Given the description of an element on the screen output the (x, y) to click on. 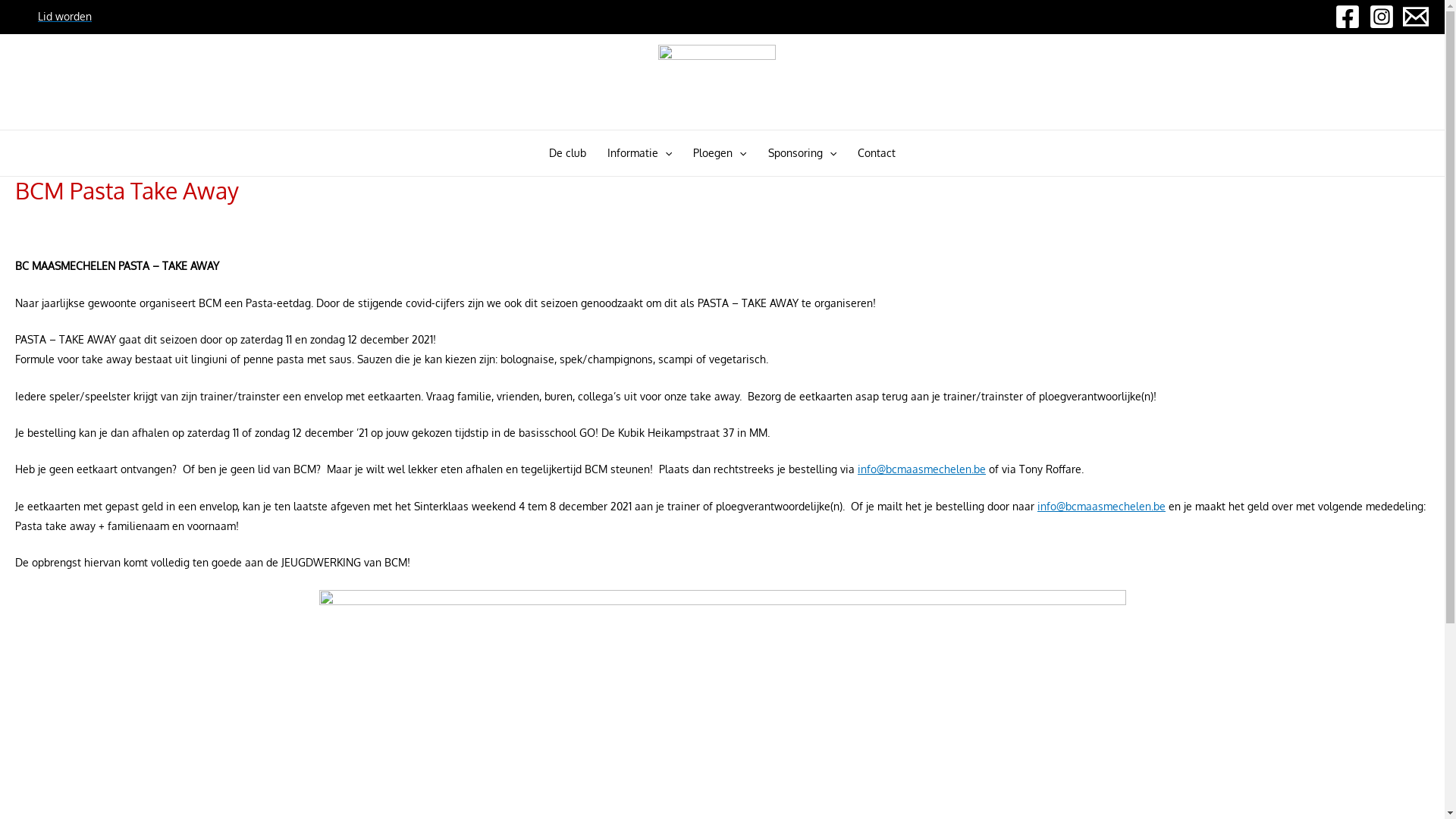
Sponsoring Element type: text (802, 152)
Ploegen Element type: text (719, 152)
Lid worden Element type: text (64, 16)
info@bcmaasmechelen.be Element type: text (921, 468)
De club Element type: text (567, 152)
Contact Element type: text (876, 152)
Informatie Element type: text (639, 152)
info@bcmaasmechelen.be Element type: text (1101, 505)
